Given the description of an element on the screen output the (x, y) to click on. 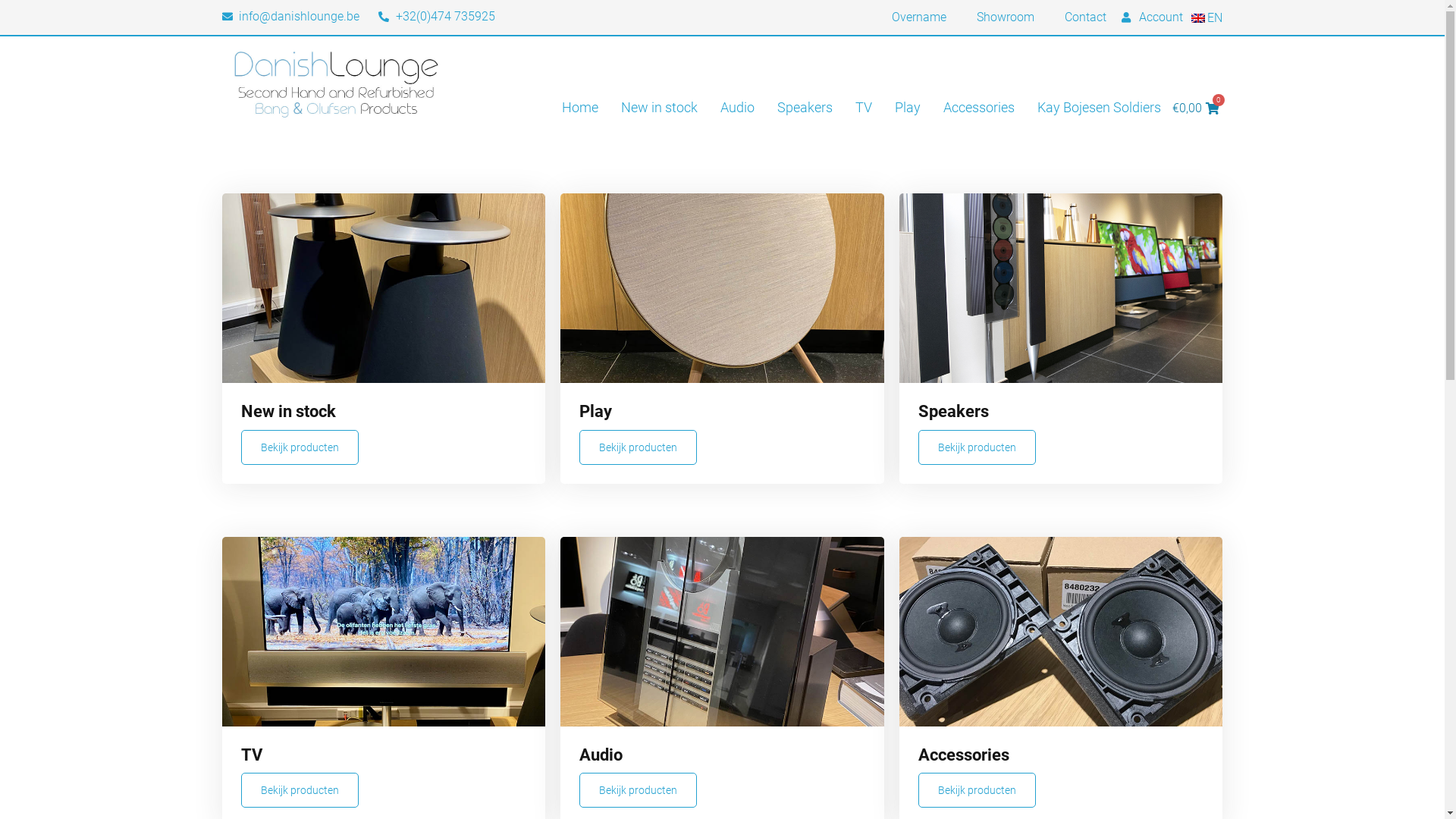
Accessories Element type: text (978, 107)
Bekijk producten Element type: text (976, 446)
Bekijk producten Element type: text (299, 446)
Audio Element type: text (737, 107)
Account Element type: text (1152, 17)
Contact Element type: text (1085, 17)
Play Element type: text (907, 107)
Bekijk producten Element type: text (299, 789)
Showroom Element type: text (1005, 17)
Speakers Element type: text (804, 107)
Kay Bojesen Soldiers Element type: text (1099, 107)
+32(0)474 735925 Element type: text (436, 16)
Bekijk producten Element type: text (976, 789)
Home Element type: text (579, 107)
Bekijk producten Element type: text (637, 789)
TV Element type: text (863, 107)
Bekijk producten Element type: text (637, 446)
info@danishlounge.be Element type: text (290, 16)
EN Element type: text (1205, 17)
Overname Element type: text (918, 17)
New in stock Element type: text (659, 107)
